Given the description of an element on the screen output the (x, y) to click on. 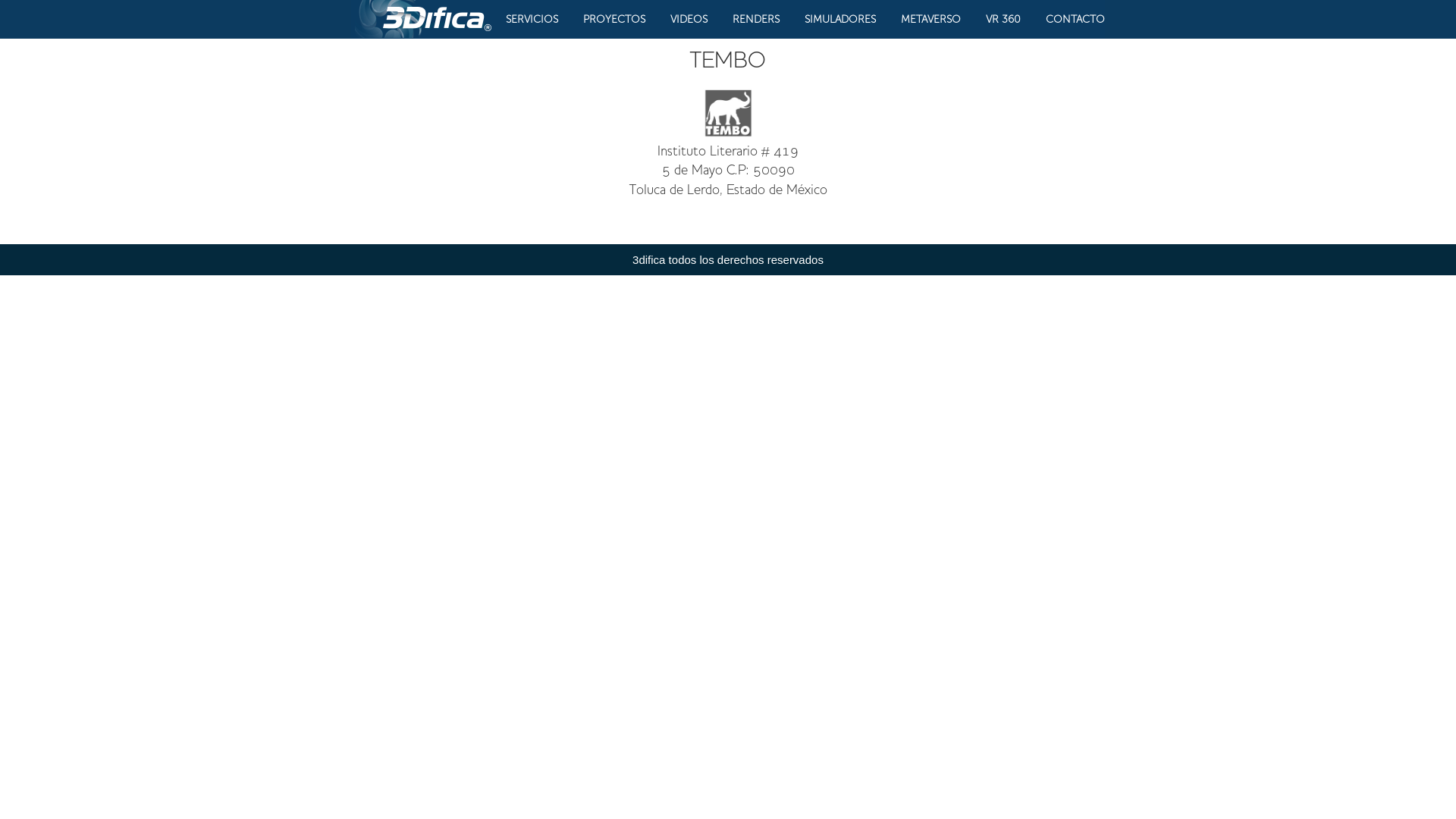
CONTACTO Element type: text (1074, 19)
METAVERSO Element type: text (930, 19)
PROYECTOS Element type: text (614, 19)
SERVICIOS Element type: text (531, 19)
SIMULADORES Element type: text (839, 19)
RENDERS Element type: text (755, 19)
VIDEOS Element type: text (688, 19)
VR 360 Element type: text (1002, 19)
